Given the description of an element on the screen output the (x, y) to click on. 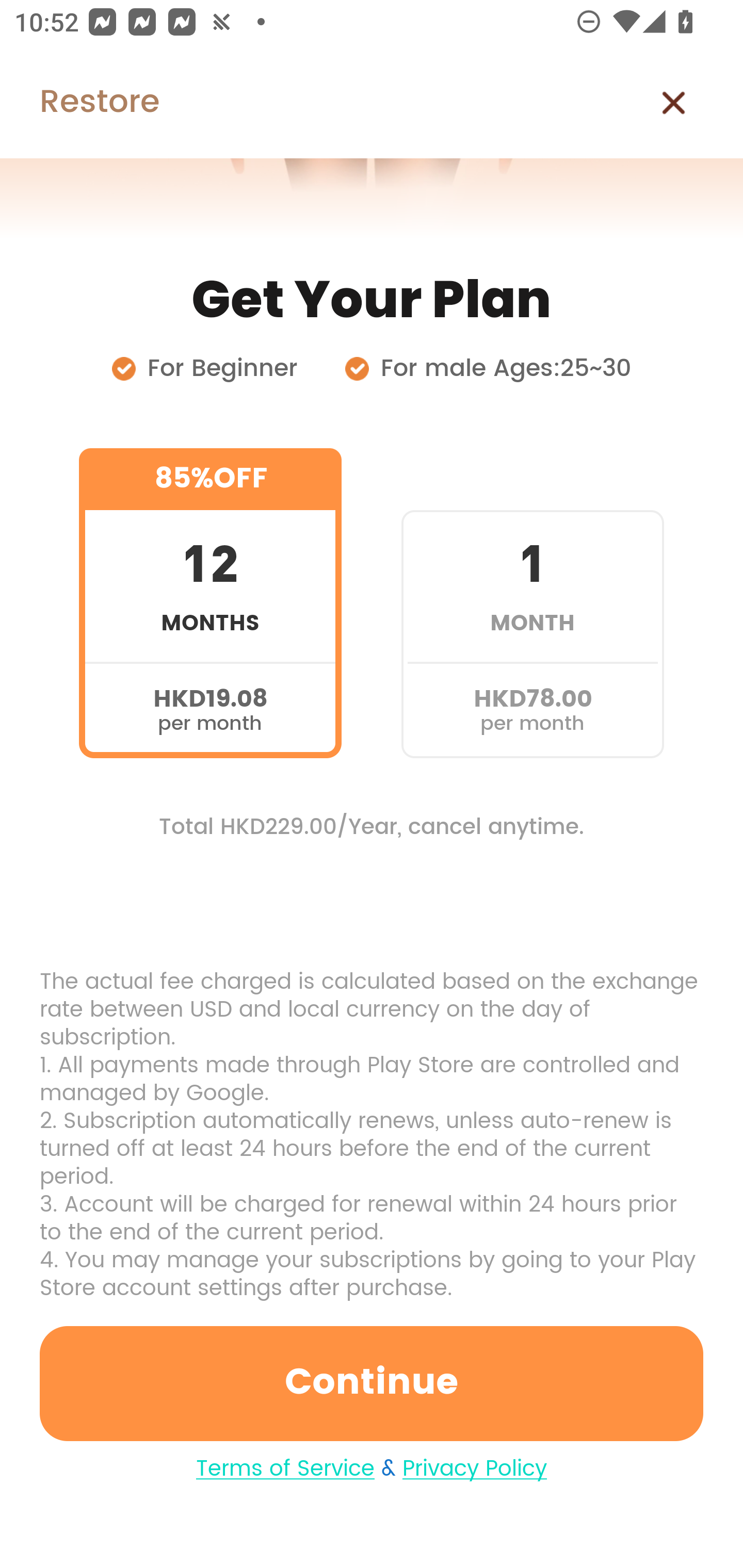
Restore (79, 102)
85%OFF 12 MONTHS per month HKD19.08 (209, 603)
1 MONTH per month HKD78.00 (532, 603)
Continue (371, 1383)
